Given the description of an element on the screen output the (x, y) to click on. 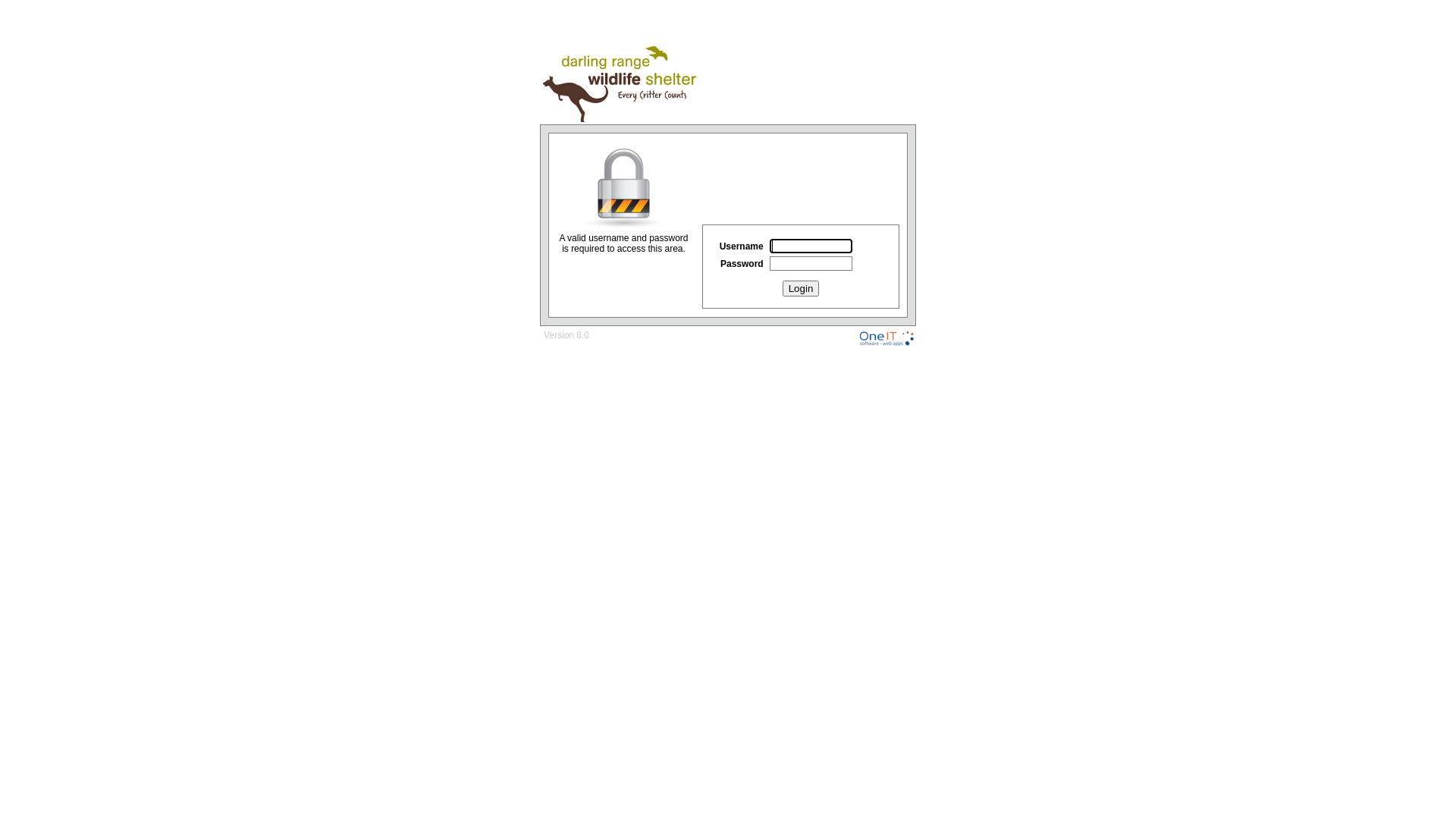
Login Element type: text (800, 288)
